Given the description of an element on the screen output the (x, y) to click on. 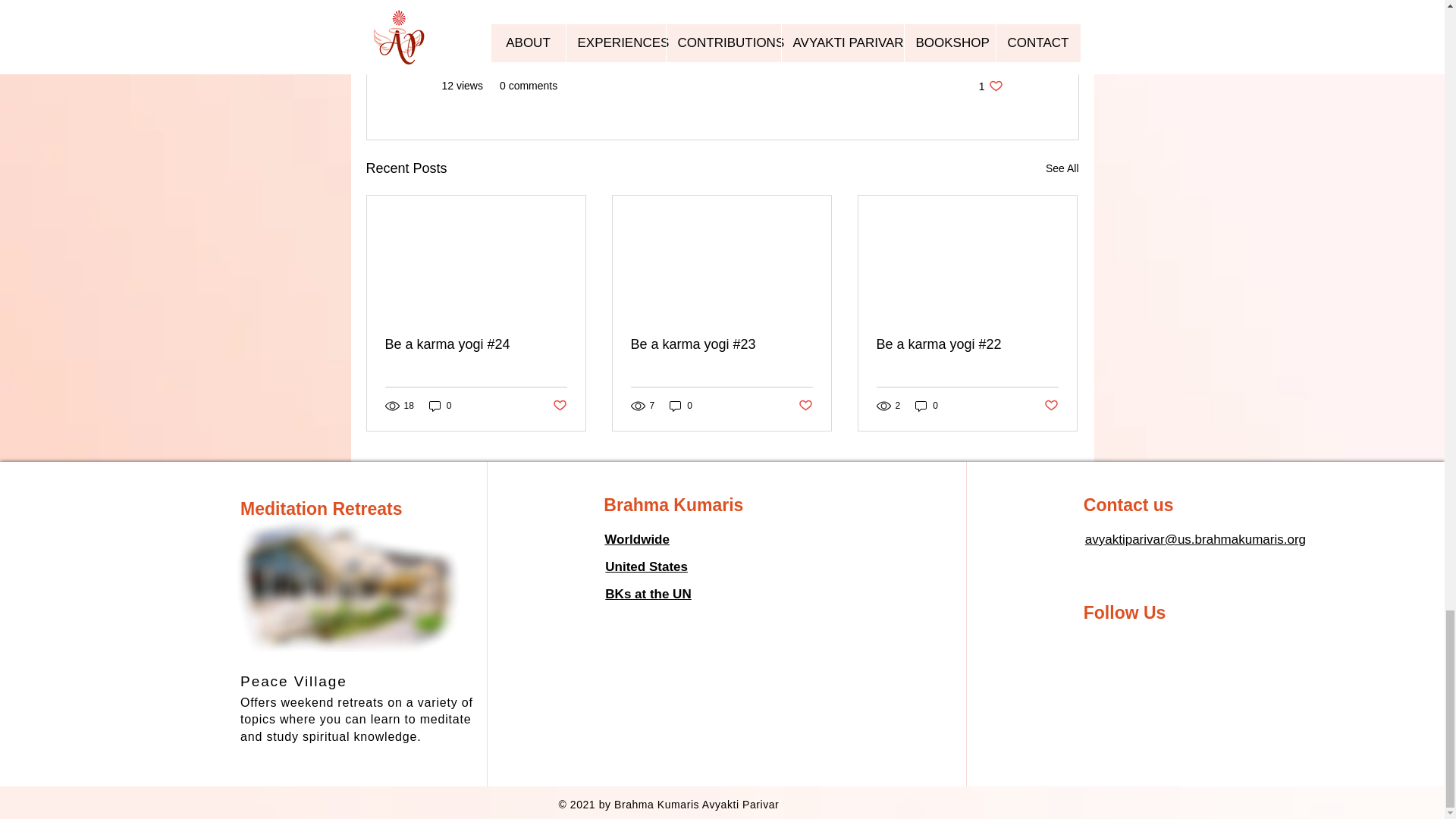
Post not marked as liked (1050, 406)
United States (646, 566)
BKs at the UN (647, 594)
Worldwide (636, 539)
Post not marked as liked (558, 406)
Post not marked as liked (804, 406)
See All (1061, 168)
0 (926, 405)
0 (681, 405)
0 (990, 85)
